Given the description of an element on the screen output the (x, y) to click on. 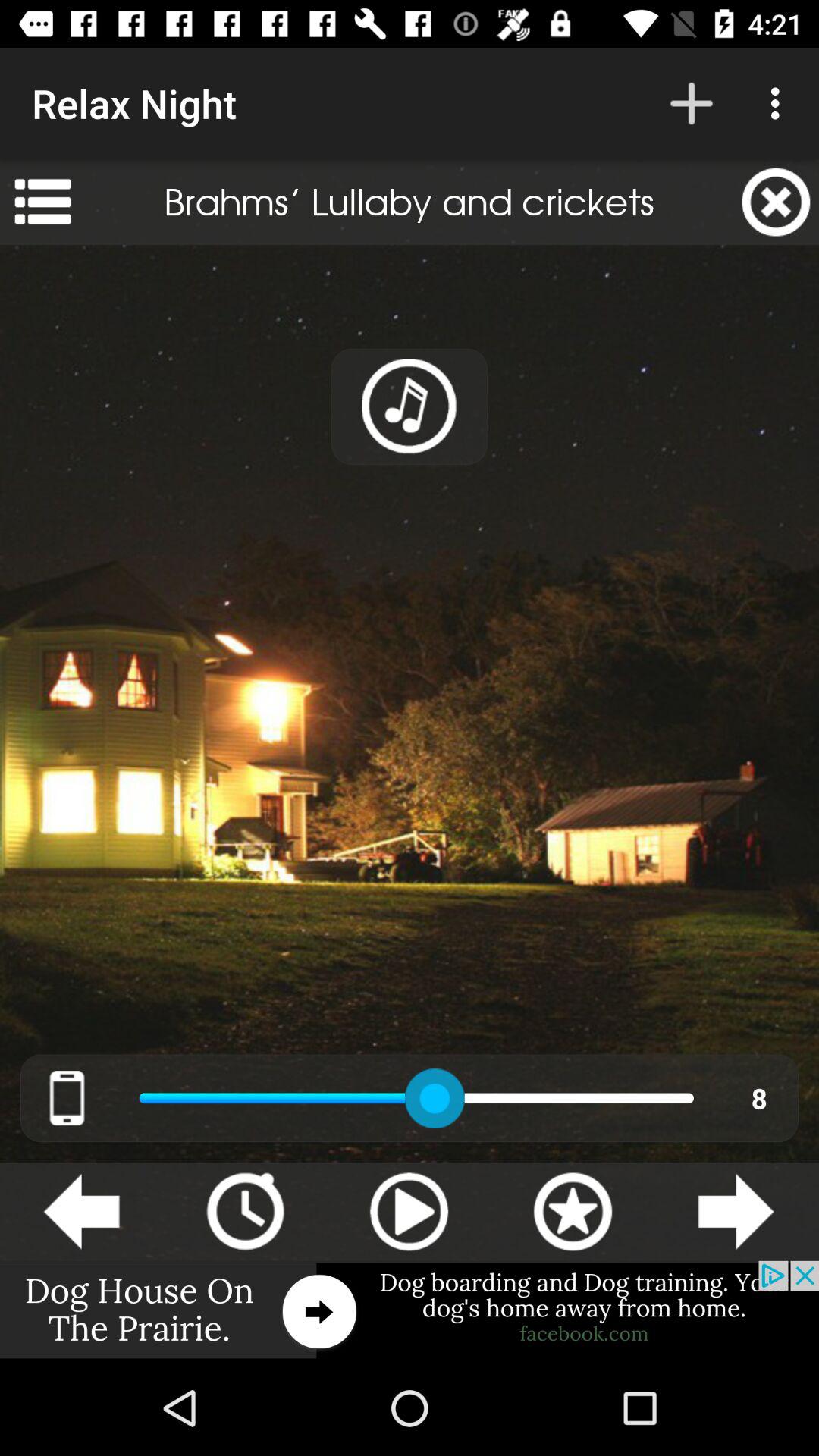
select next button on page (735, 1212)
click on favorite icon (572, 1212)
click on the cellphone image (66, 1097)
